Given the description of an element on the screen output the (x, y) to click on. 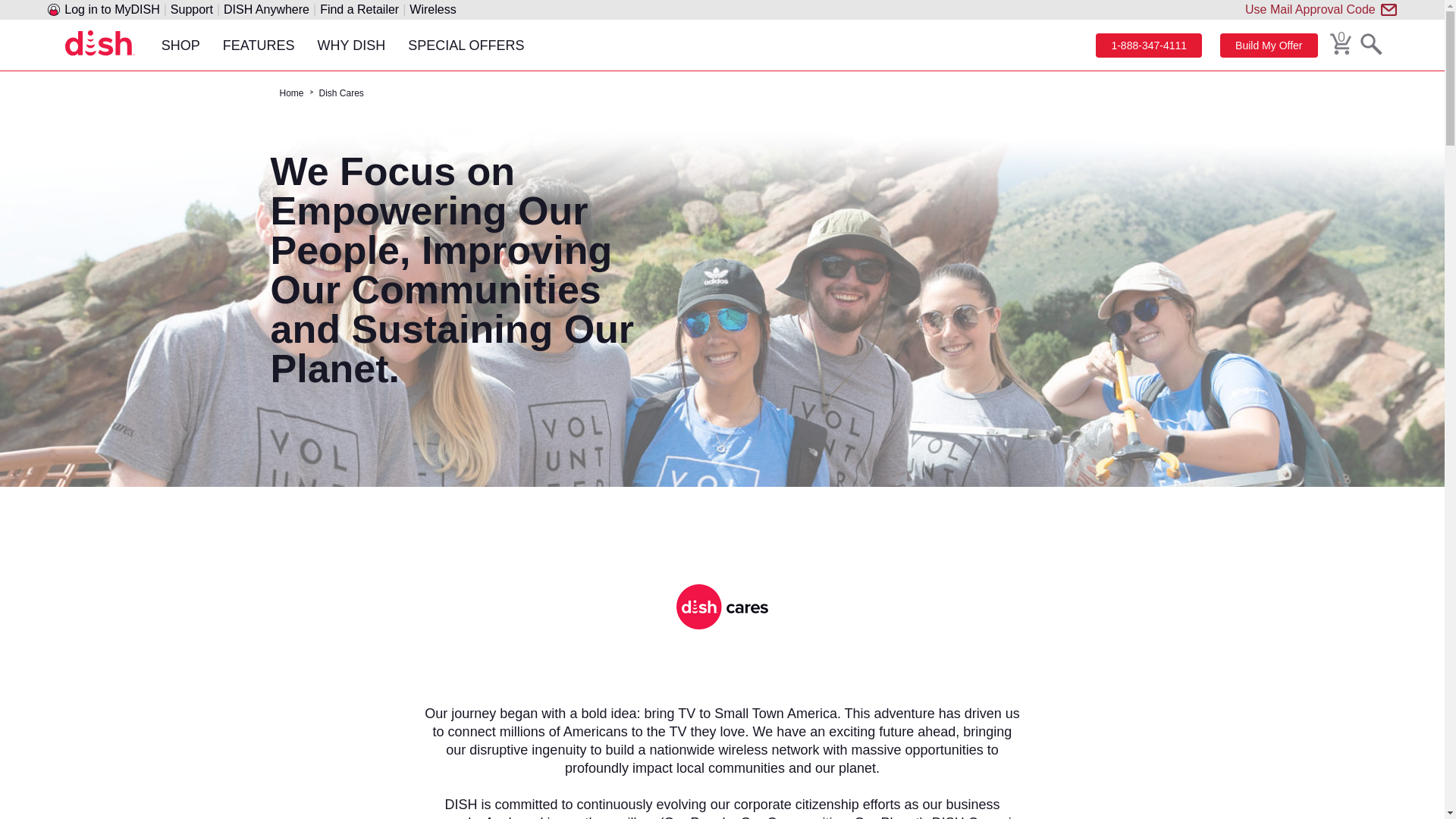
FEATURES (258, 44)
Log in to MyDISH (111, 9)
Checkout (1341, 44)
SHOP (180, 44)
Support (191, 9)
Find a Retailer (359, 9)
Search DISH (1370, 44)
Use Mail Approval Code (1310, 9)
Wireless (432, 9)
DISH Anywhere (266, 9)
